Given the description of an element on the screen output the (x, y) to click on. 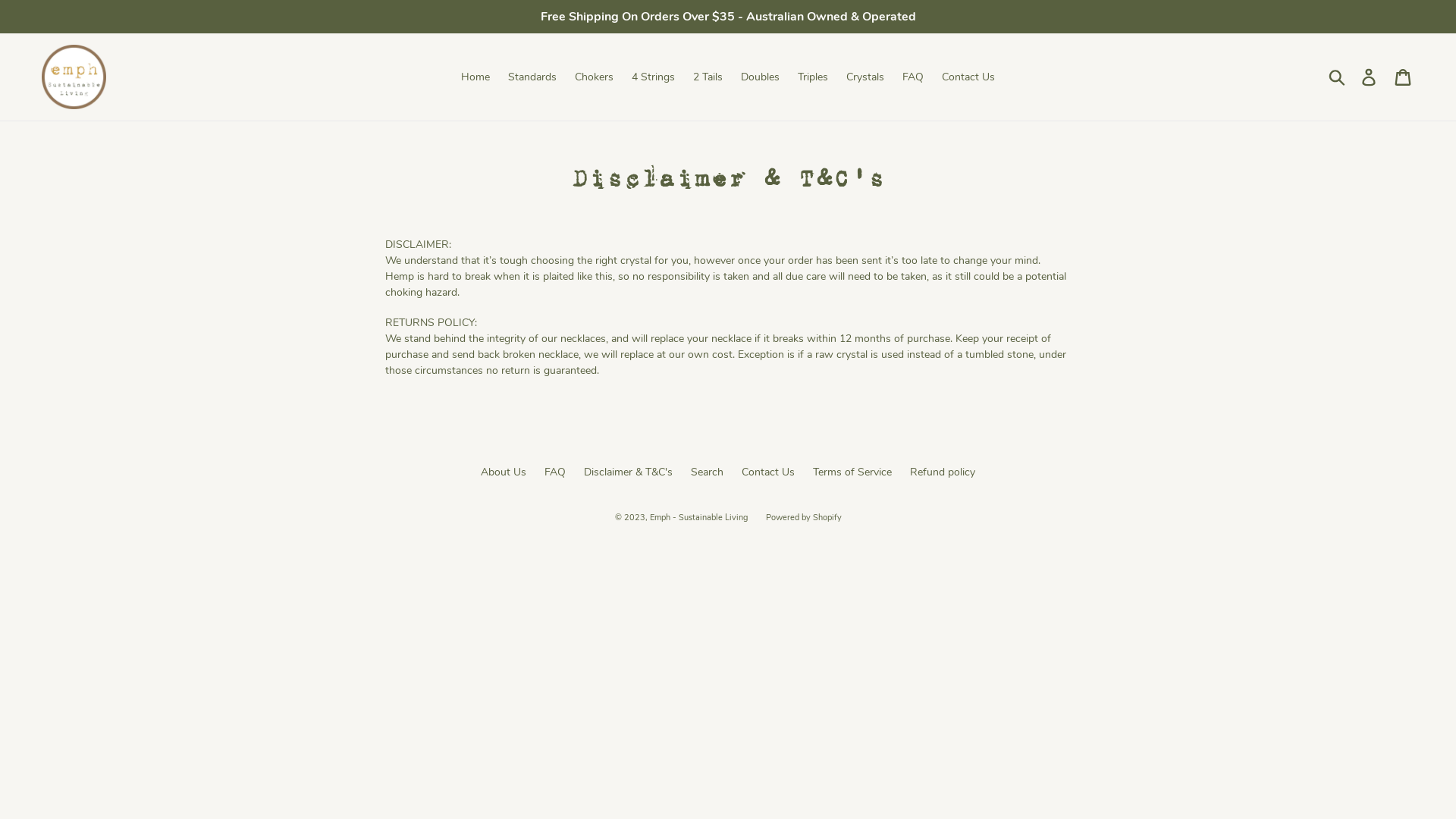
Emph - Sustainable Living Element type: text (697, 517)
Triples Element type: text (812, 76)
Submit Element type: text (1337, 77)
Disclaimer & T&C's Element type: text (627, 471)
Chokers Element type: text (594, 76)
Search Element type: text (706, 471)
Log in Element type: text (1369, 76)
Standards Element type: text (532, 76)
About Us Element type: text (503, 471)
FAQ Element type: text (912, 76)
Crystals Element type: text (864, 76)
2 Tails Element type: text (707, 76)
4 Strings Element type: text (653, 76)
Home Element type: text (475, 76)
FAQ Element type: text (554, 471)
Powered by Shopify Element type: text (803, 517)
Doubles Element type: text (760, 76)
Contact Us Element type: text (968, 76)
Cart Element type: text (1403, 76)
Contact Us Element type: text (767, 471)
Terms of Service Element type: text (851, 471)
Refund policy Element type: text (942, 471)
